Given the description of an element on the screen output the (x, y) to click on. 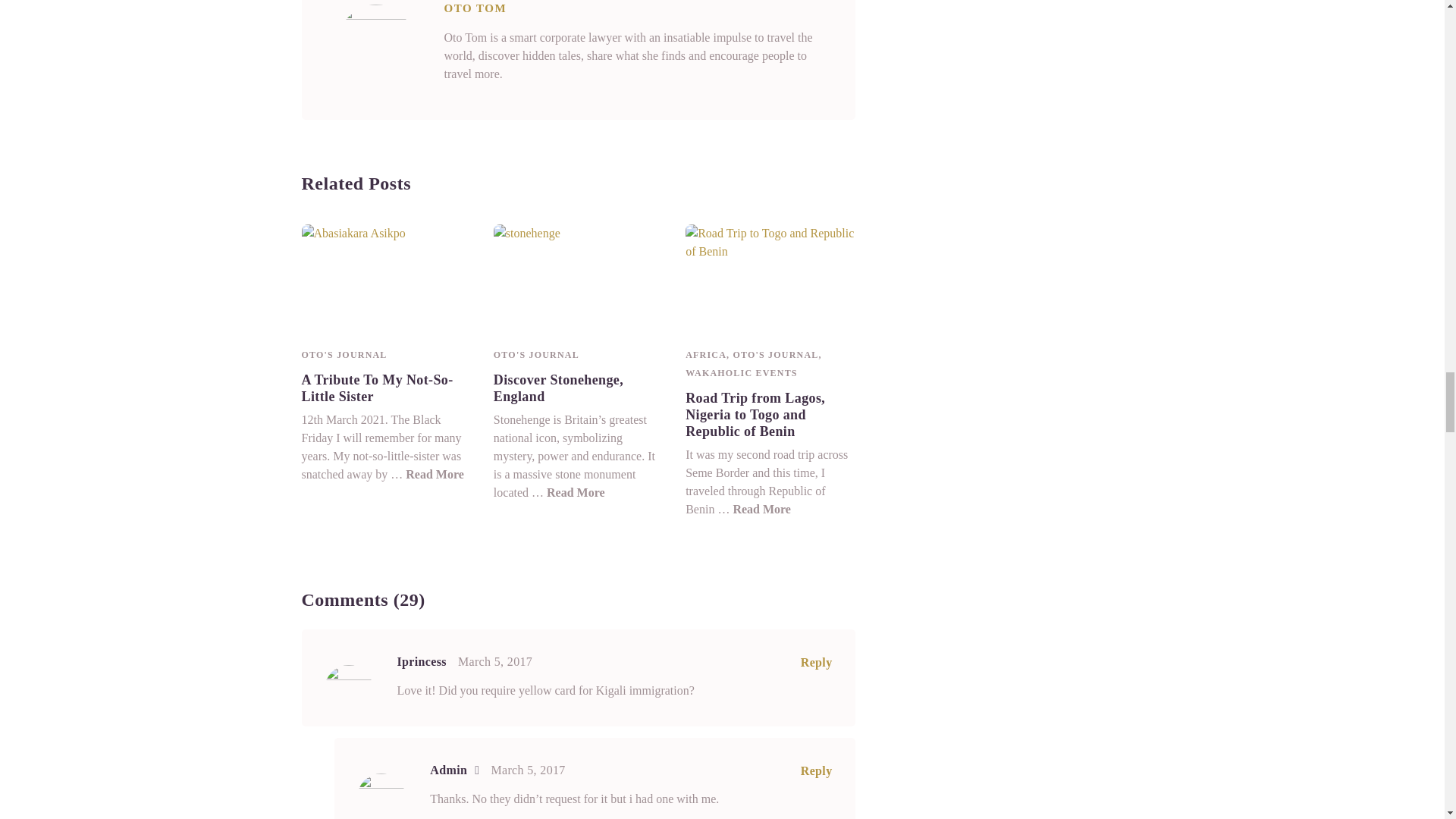
Discover Stonehenge, England (558, 388)
OTO'S JOURNAL (344, 354)
Discover Stonehenge, England (577, 278)
Discover Stonehenge, England (576, 492)
A Tribute To My Not-So-Little Sister (435, 473)
A Tribute To My Not-So-Little Sister (376, 388)
OTO'S JOURNAL (536, 354)
A Tribute To My Not-So-Little Sister (385, 278)
OTO TOM (475, 8)
Discover Stonehenge, England (558, 388)
